Given the description of an element on the screen output the (x, y) to click on. 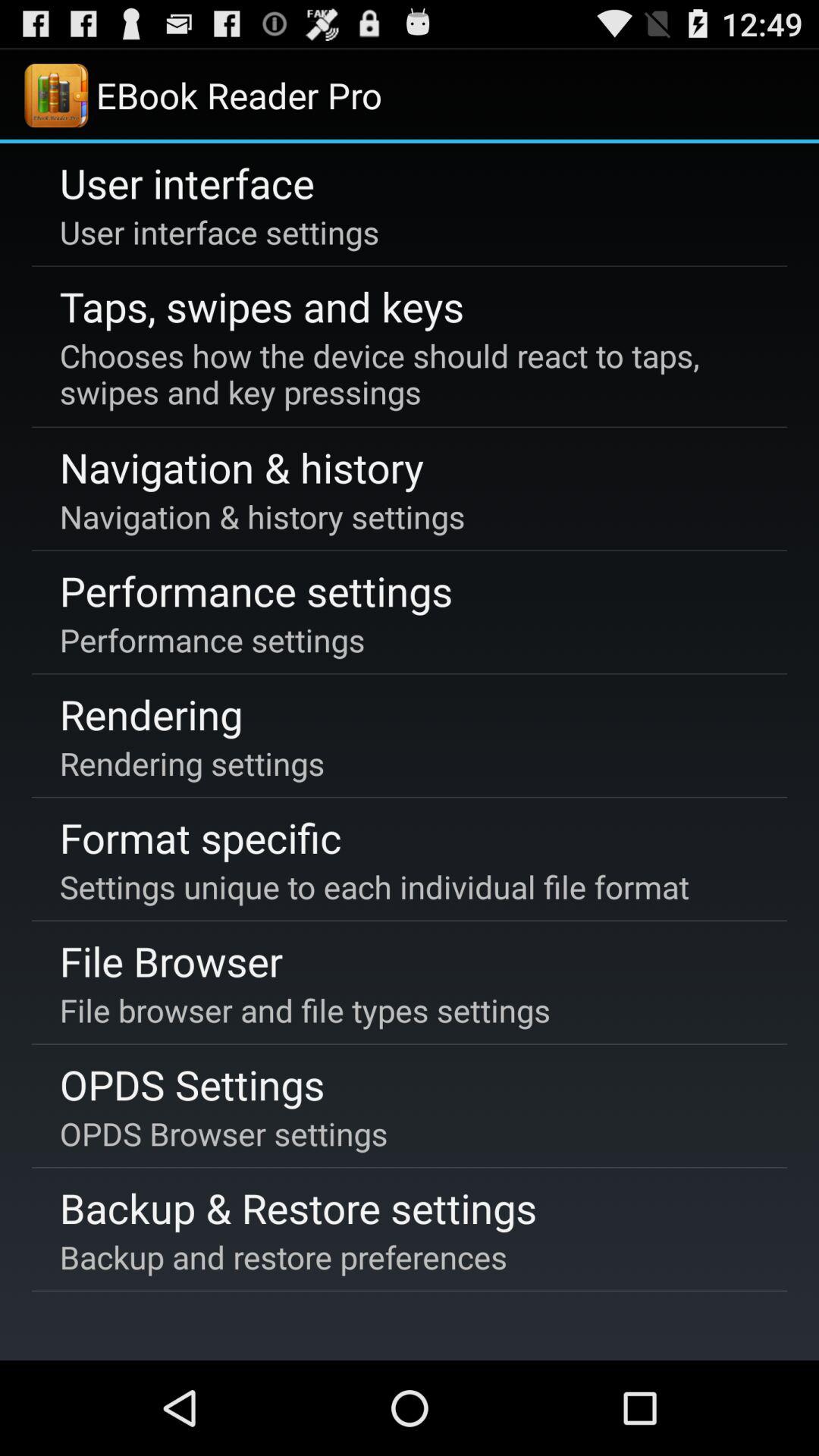
click icon above settings unique to icon (200, 837)
